Given the description of an element on the screen output the (x, y) to click on. 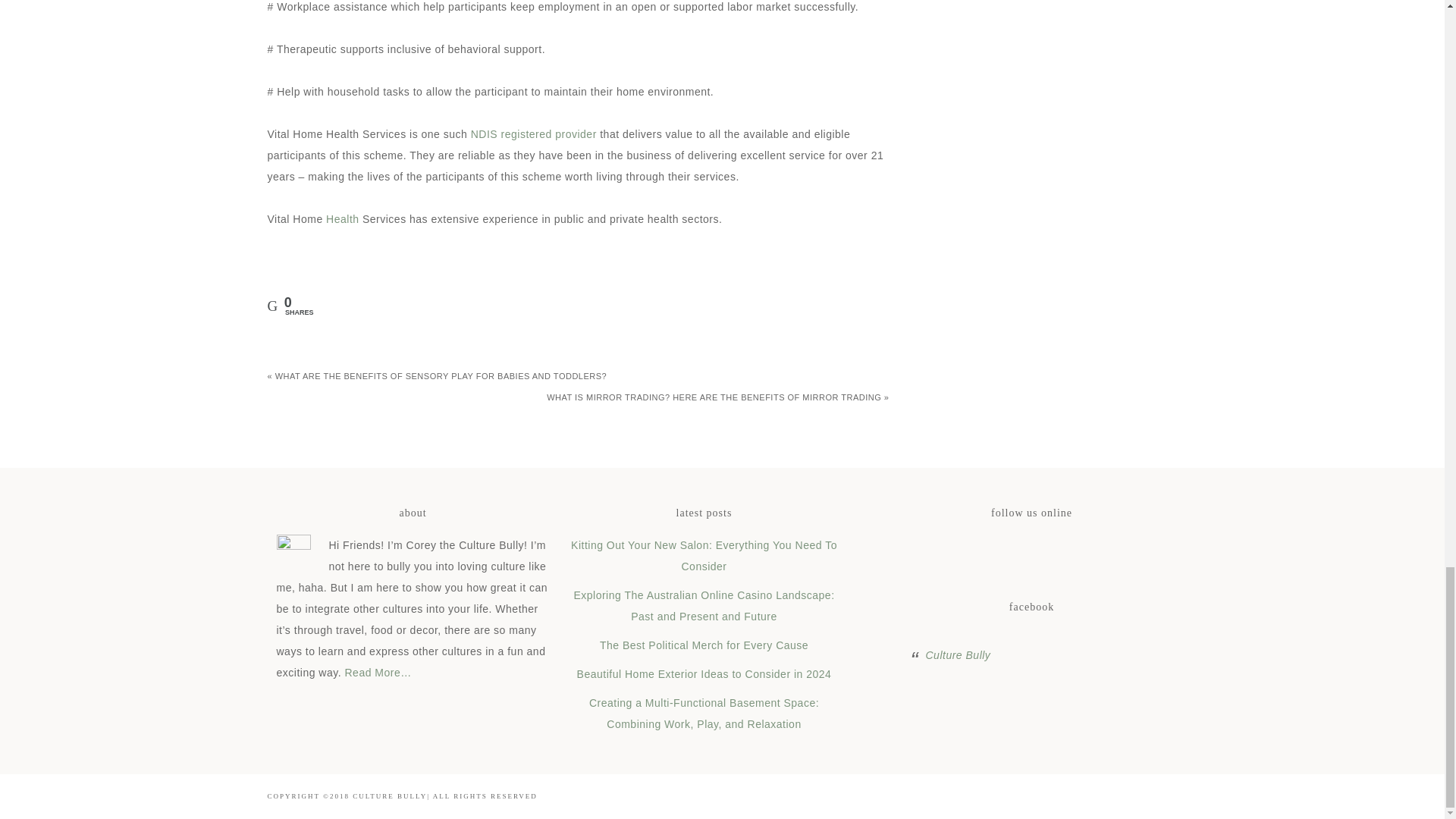
The Best Political Merch for Every Cause (703, 645)
NDIS registered provider (533, 133)
Kitting Out Your New Salon: Everything You Need To Consider (703, 555)
Culture Bully (957, 654)
Beautiful Home Exterior Ideas to Consider in 2024 (703, 674)
Health (342, 218)
